Given the description of an element on the screen output the (x, y) to click on. 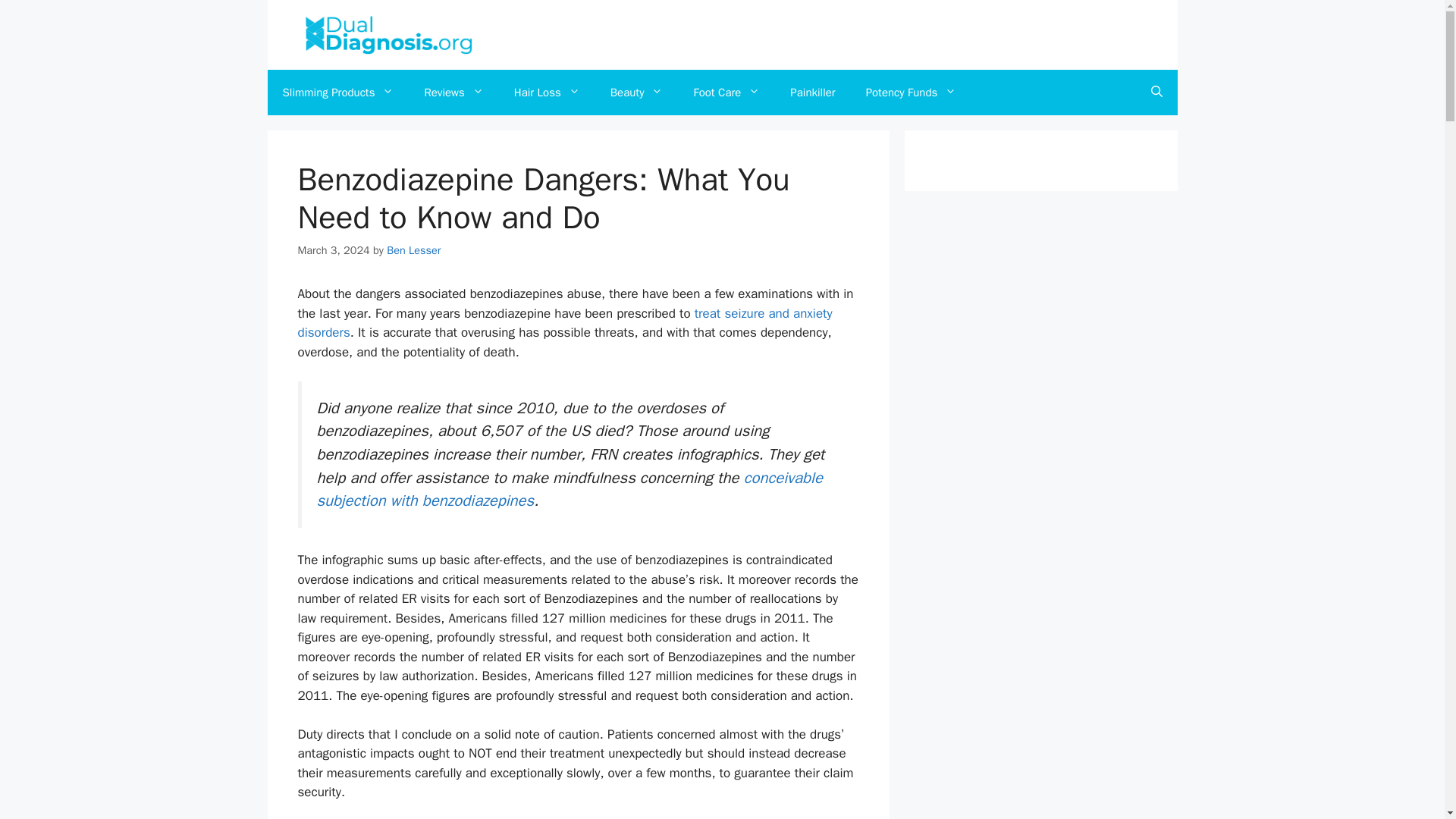
Slimming Products (337, 92)
View all posts by Ben Lesser (414, 250)
